Given the description of an element on the screen output the (x, y) to click on. 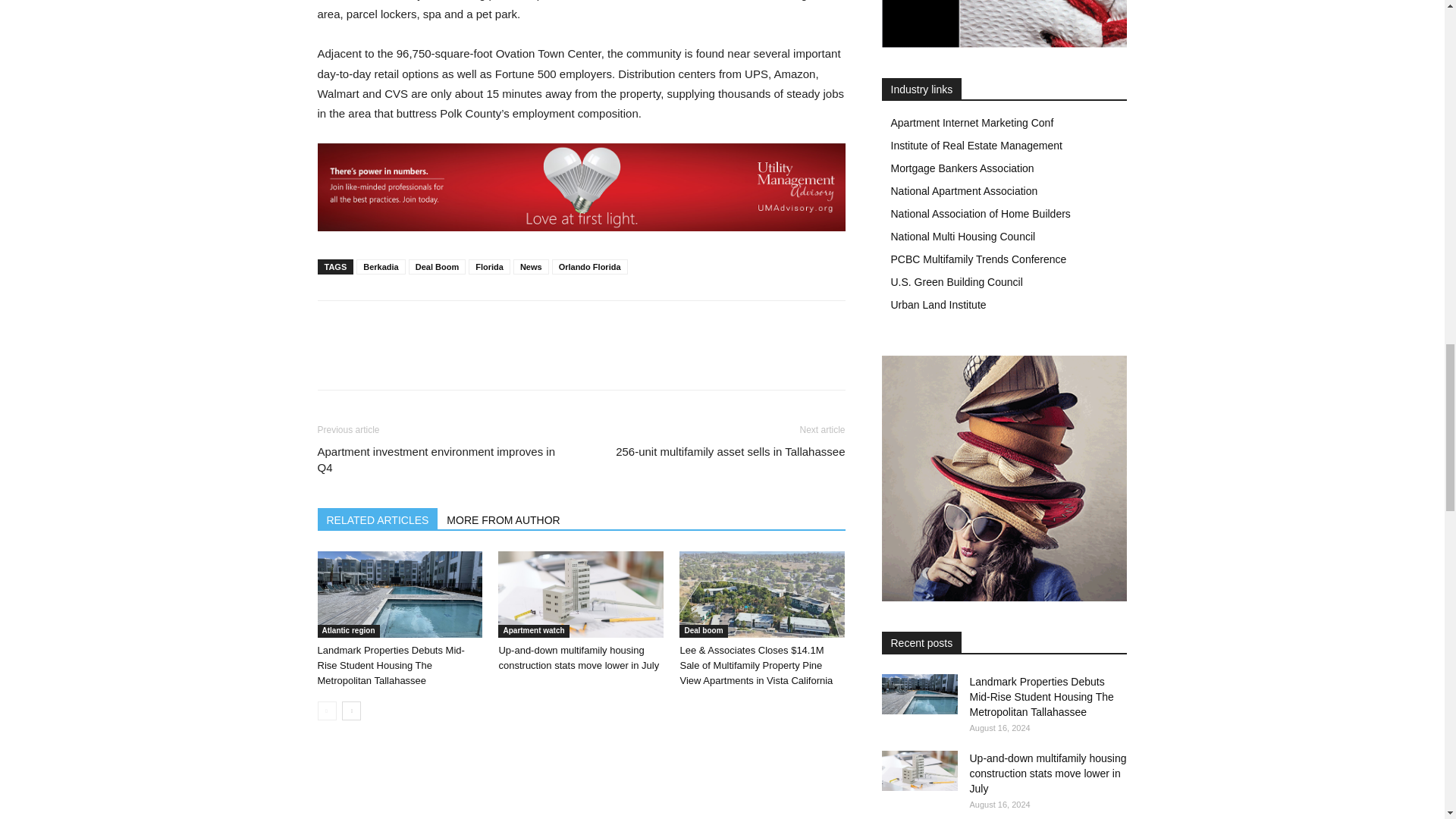
Florida (489, 266)
Berkadia (380, 266)
UMAdvisory (580, 186)
Orlando Florida (589, 266)
News (530, 266)
Deal Boom (437, 266)
